Given the description of an element on the screen output the (x, y) to click on. 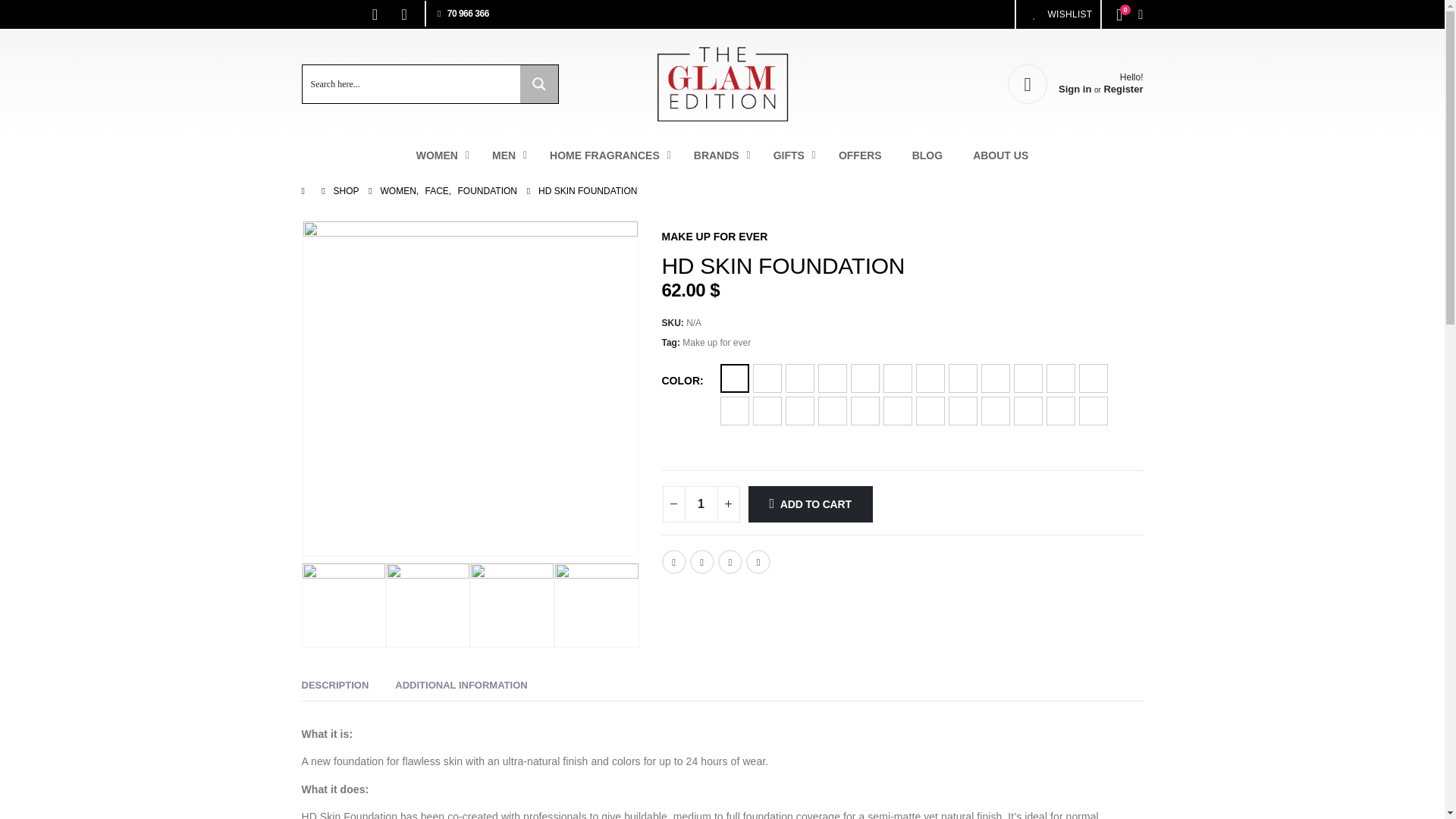
Instagram (403, 13)
1 (700, 504)
1N00 - pink albaster (721, 155)
face albaster (427, 604)
My Account (595, 604)
WISHLIST (1074, 84)
1r02 cool albaster (1057, 14)
Facebook (469, 388)
The Glam Edition -  (374, 13)
